Given the description of an element on the screen output the (x, y) to click on. 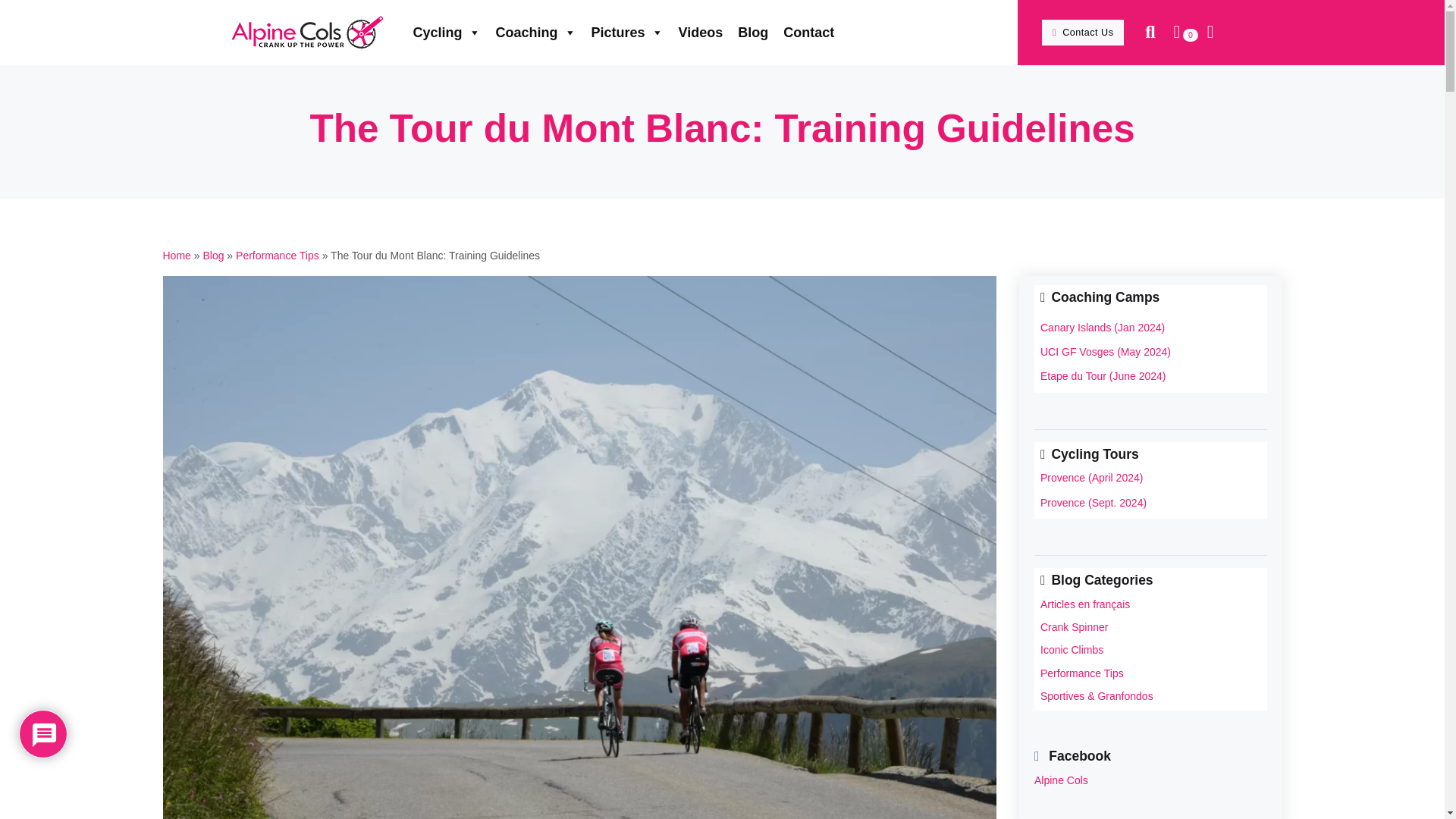
Coaching (630, 32)
Blog (543, 32)
Performance Tips (760, 32)
Blog (276, 255)
Videos (213, 255)
Iconic Climbs (708, 32)
Blog (1150, 649)
Contact (213, 255)
Home (815, 32)
Performance Tips (175, 255)
Performance Tips (1150, 673)
Home (276, 255)
Pictures (175, 255)
Contact Us (634, 32)
